Given the description of an element on the screen output the (x, y) to click on. 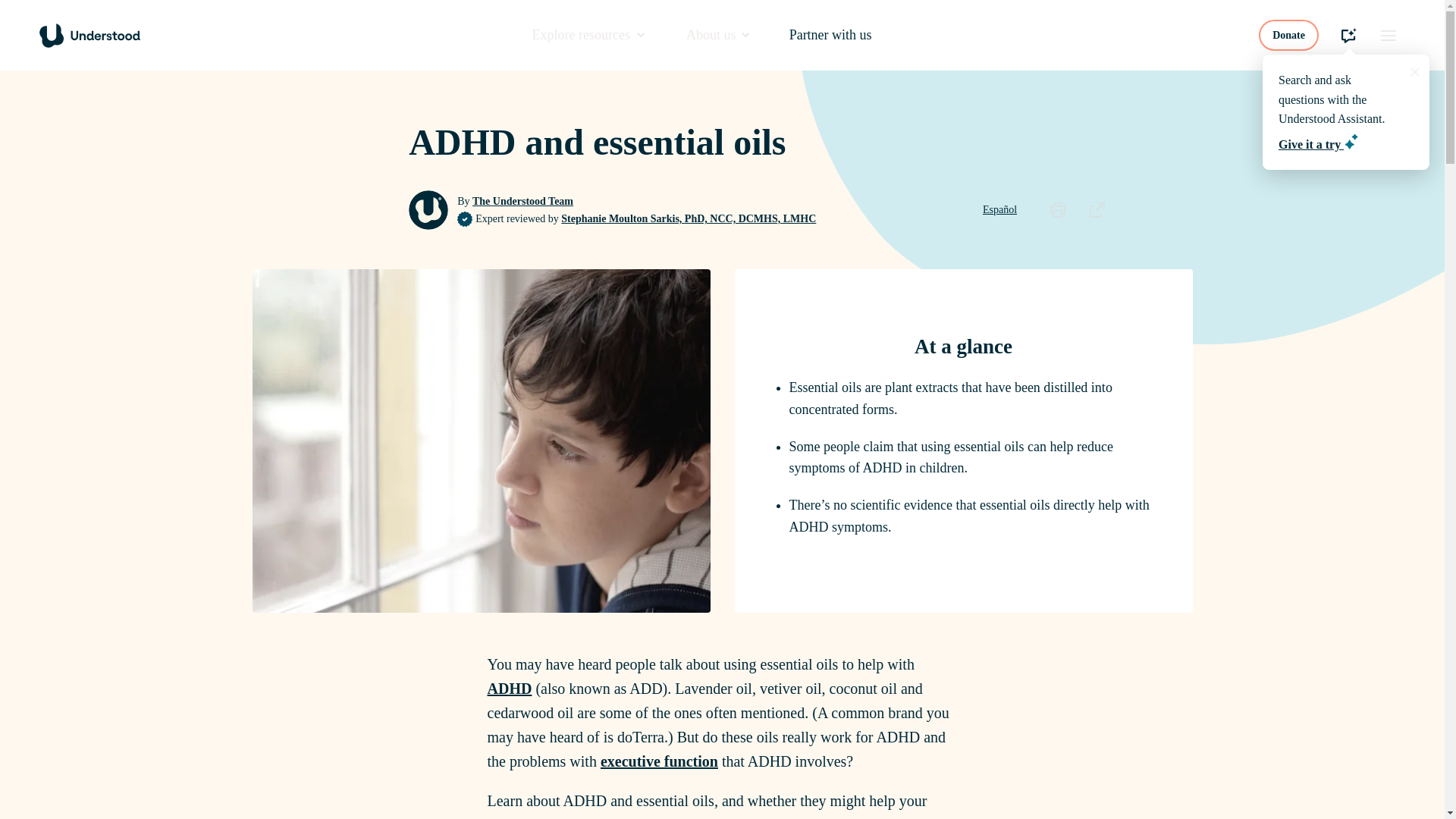
Give it a try (1318, 144)
Partner with us (830, 34)
About us (716, 34)
ADHD (508, 688)
Explore resources (587, 34)
executive function (658, 760)
Stephanie Moulton Sarkis, PhD, NCC, DCMHS, LMHC (687, 218)
Donate (1288, 35)
The Understood Team (522, 201)
Open menu (1388, 34)
